Given the description of an element on the screen output the (x, y) to click on. 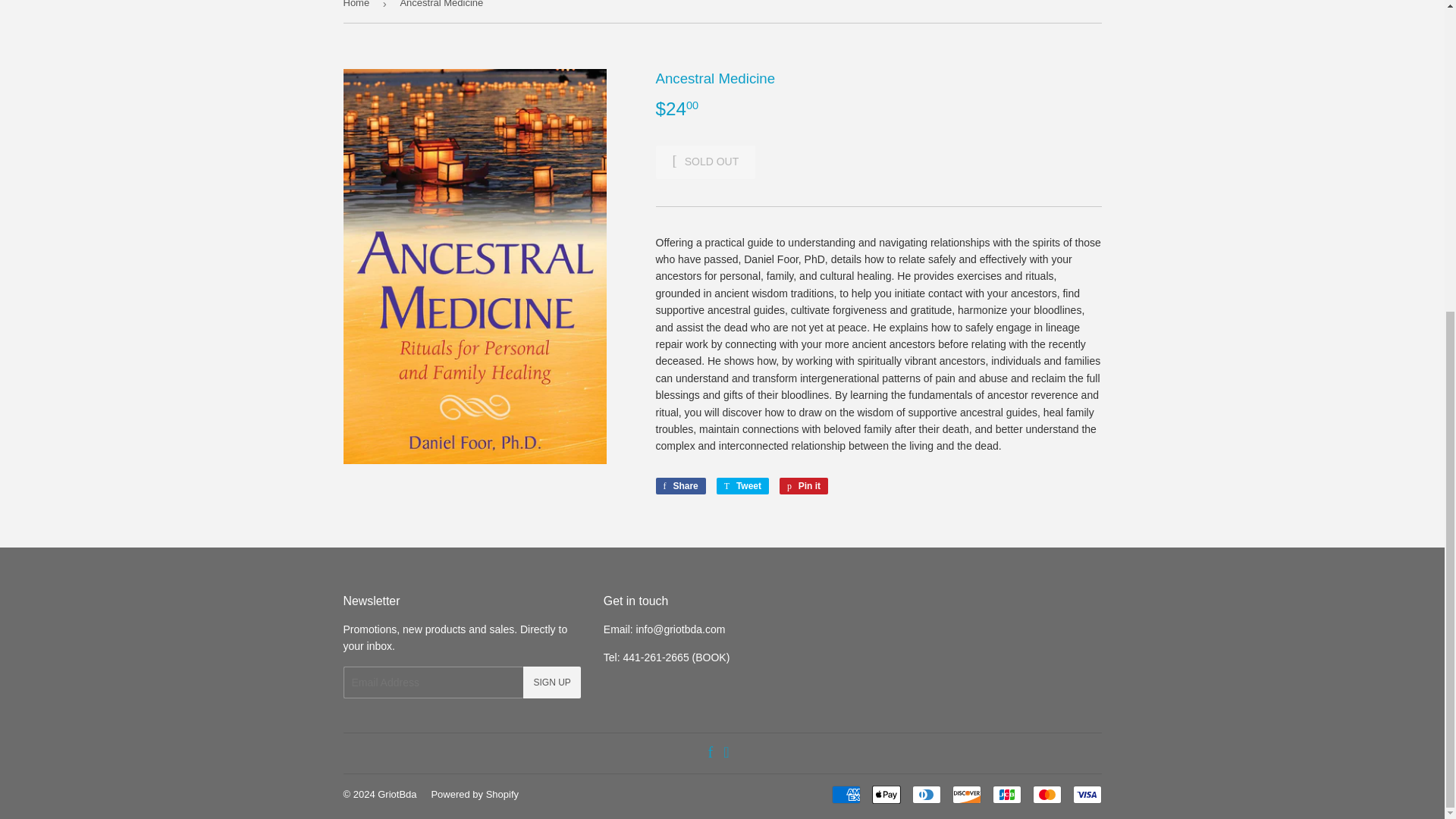
Tweet on Twitter (742, 485)
Back to the frontpage (358, 11)
Mastercard (1046, 794)
Pin on Pinterest (803, 485)
Apple Pay (886, 794)
Diners Club (925, 794)
Share on Facebook (679, 485)
JCB (1005, 794)
American Express (845, 794)
Discover (966, 794)
